Given the description of an element on the screen output the (x, y) to click on. 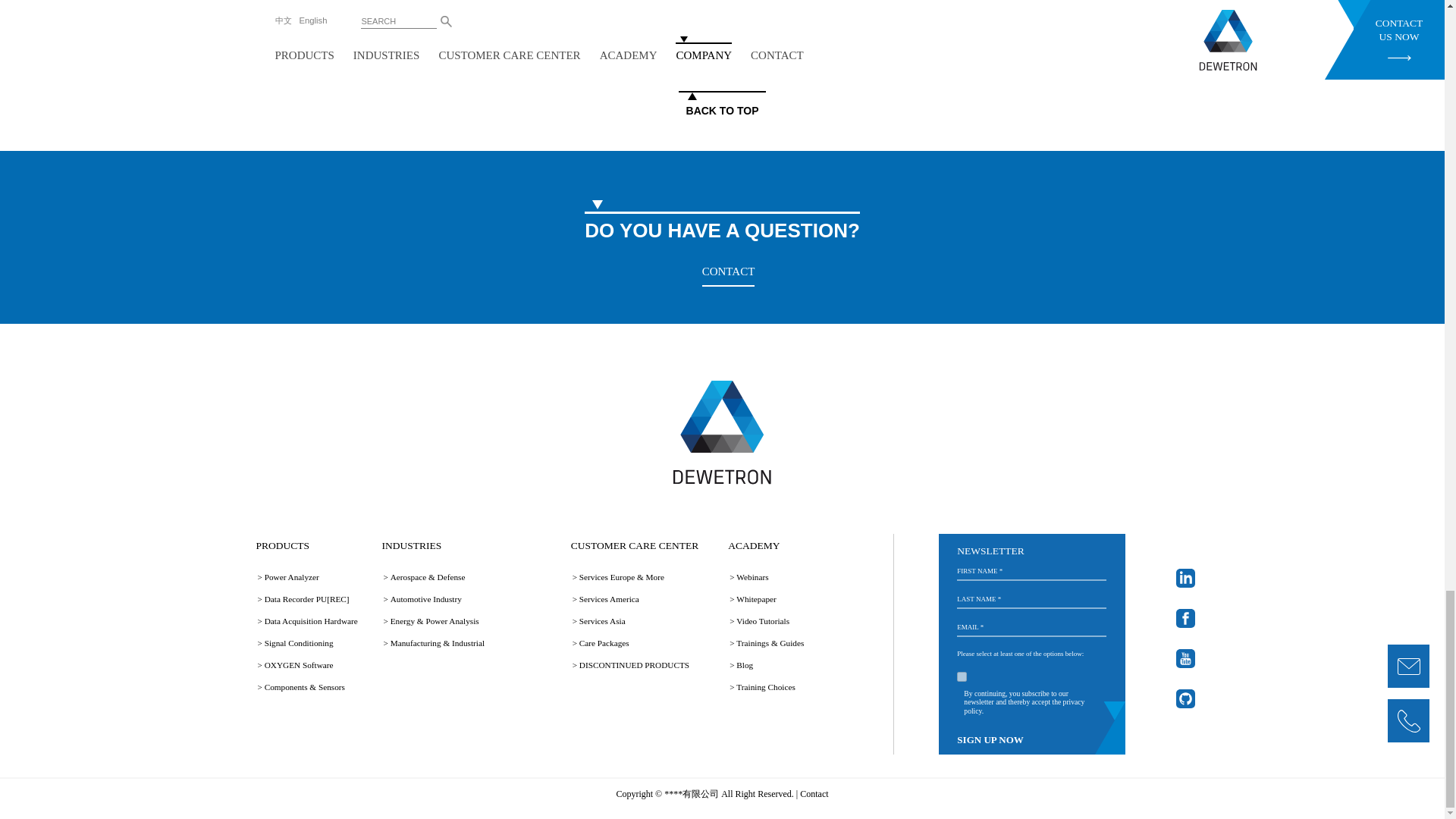
DEWETRON (722, 432)
SIGN UP NOW (989, 739)
on (961, 676)
